Given the description of an element on the screen output the (x, y) to click on. 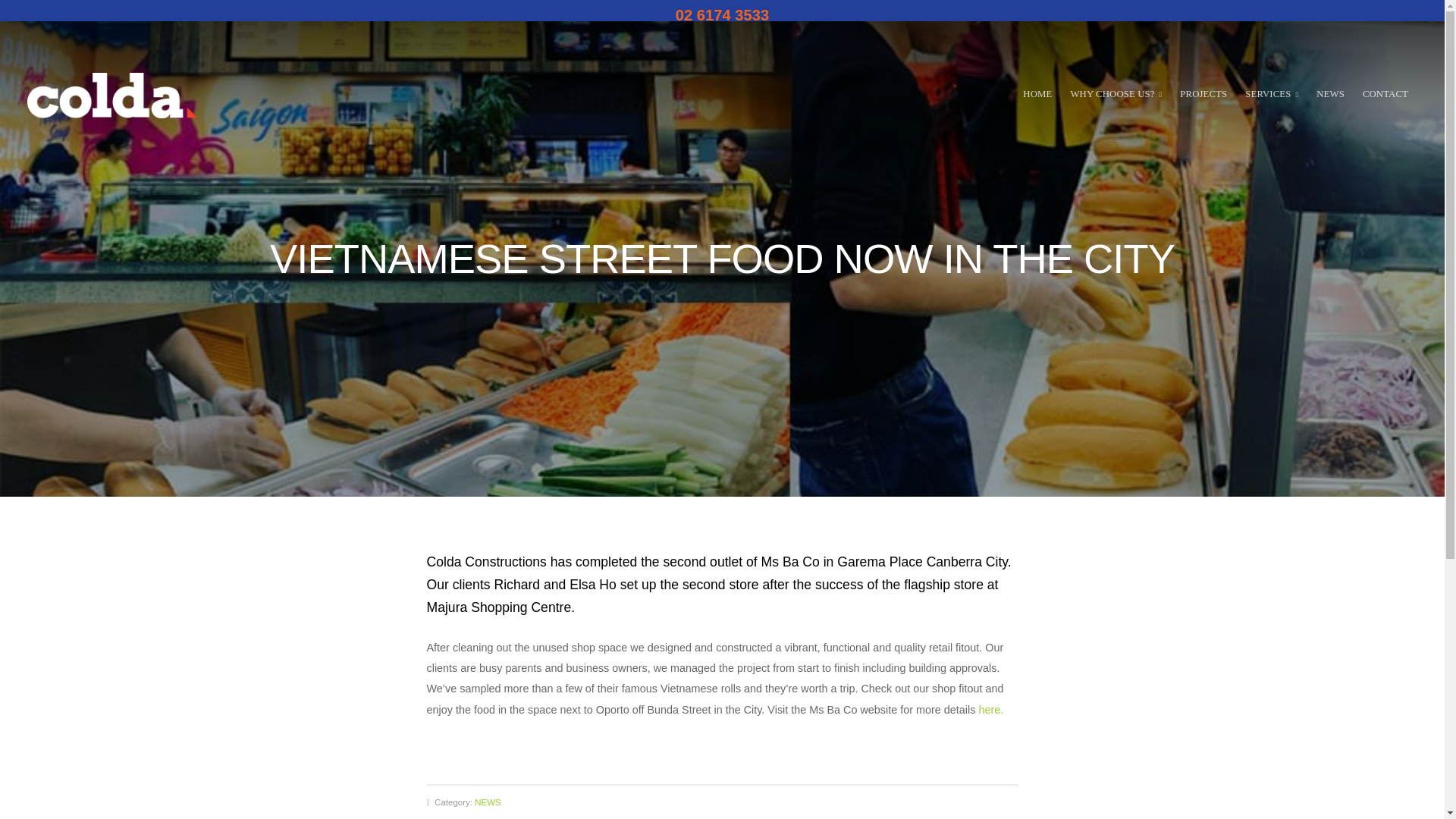
CONTACT (1384, 95)
PROJECTS (1203, 95)
here. (990, 709)
NEWS (1329, 95)
SERVICES (1271, 95)
HOME (1037, 95)
WHY CHOOSE US? (1115, 95)
NEWS (487, 801)
02 6174 3533 (721, 14)
